Given the description of an element on the screen output the (x, y) to click on. 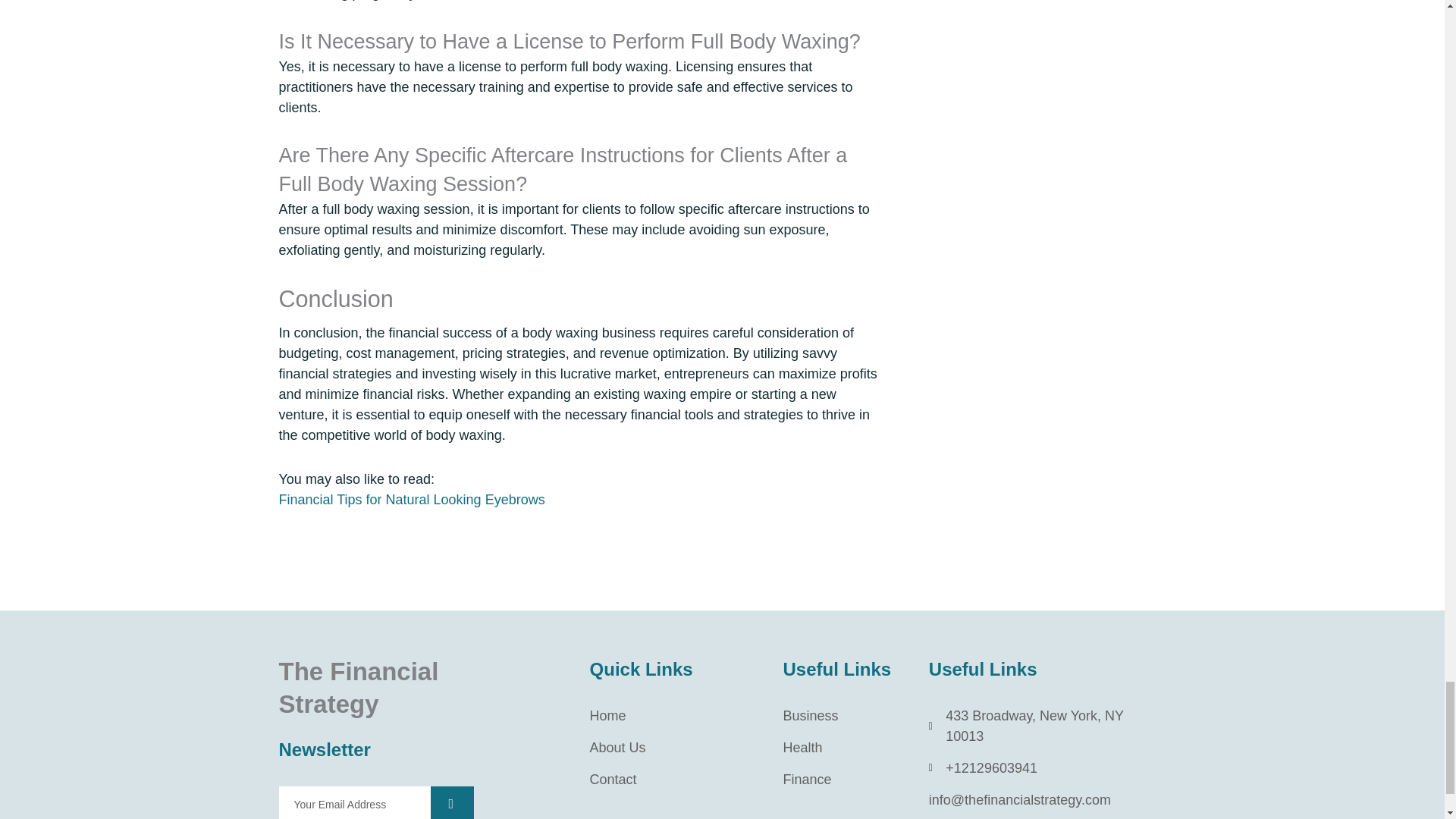
Financial Tips for Natural Looking Eyebrows (411, 499)
Home (674, 715)
About Us (674, 747)
Business (844, 715)
Finance (844, 779)
Contact (674, 779)
The Financial Strategy (359, 687)
Health (844, 747)
